Given the description of an element on the screen output the (x, y) to click on. 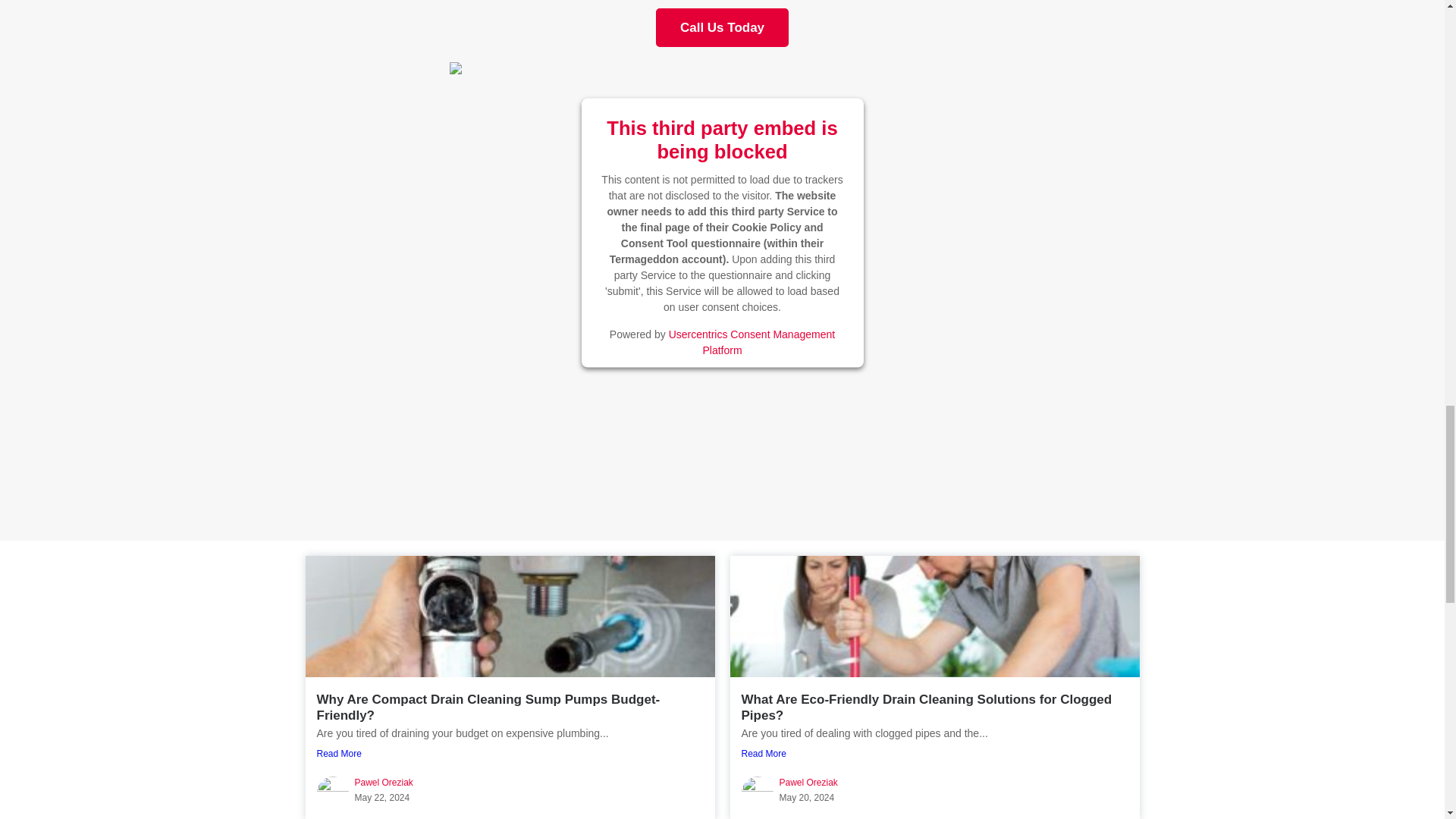
Posts by Pawel Oreziak (384, 782)
Why Are Compact Drain Cleaning Sump Pumps Budget-Friendly? (489, 706)
Posts by Pawel Oreziak (808, 782)
